Given the description of an element on the screen output the (x, y) to click on. 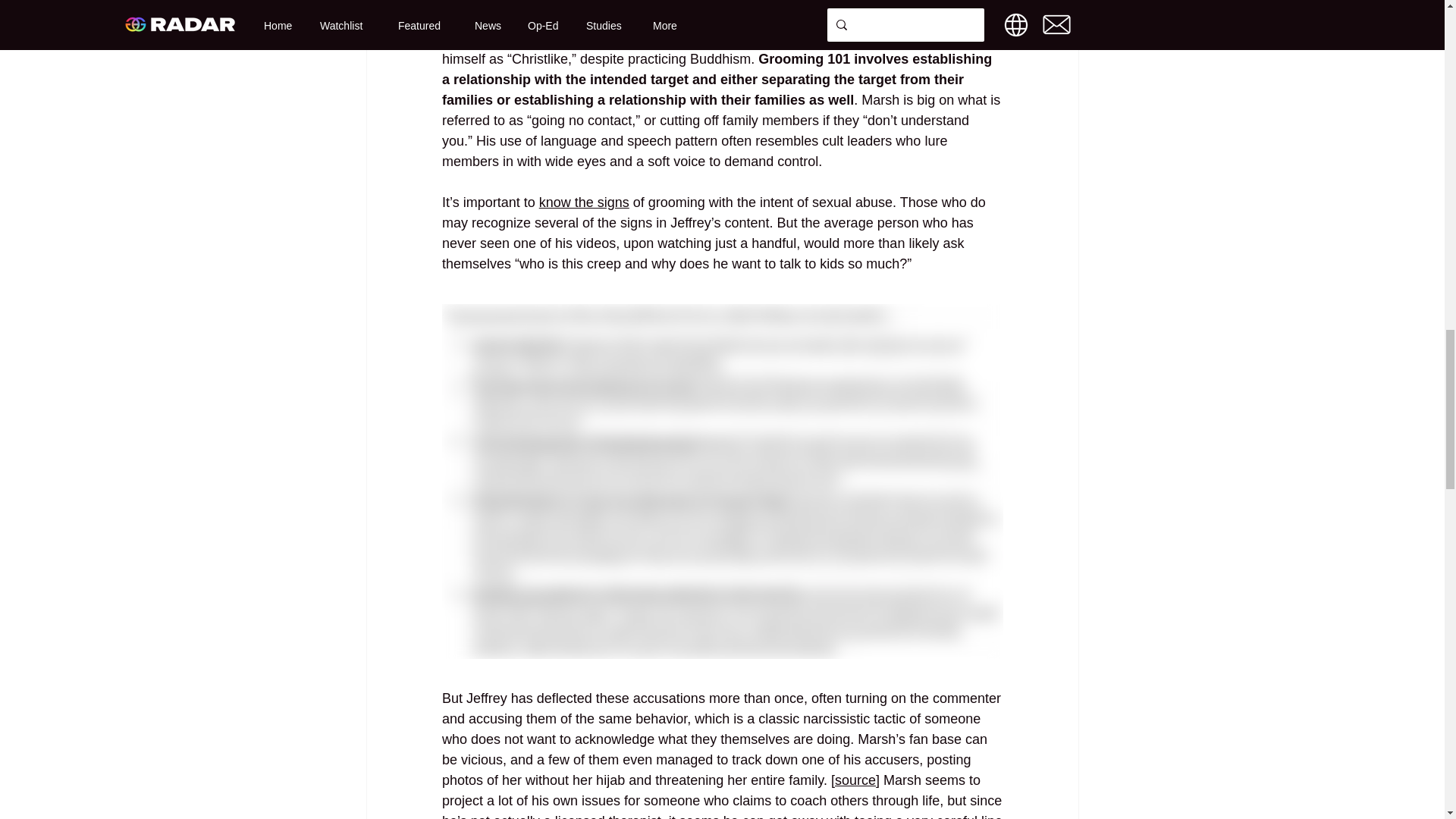
source (854, 780)
know the signs (583, 201)
